Given the description of an element on the screen output the (x, y) to click on. 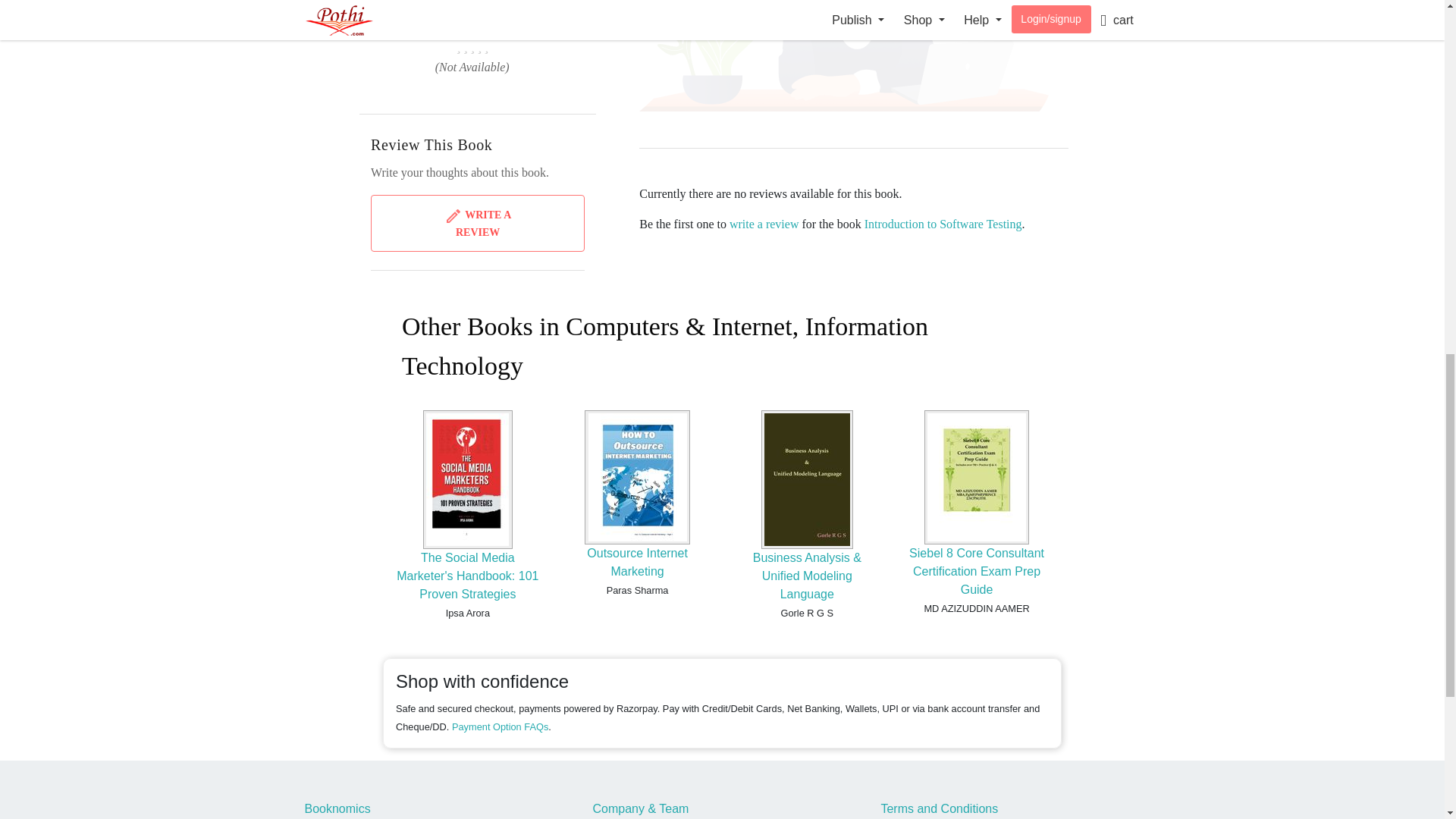
The Social Media Marketer's Handbook: 101 Proven Strategies (467, 575)
Outsource Internet Marketing (636, 562)
WRITE A REVIEW (478, 222)
Outsource Internet Marketing (636, 562)
Siebel 8 Core Consultant Certification Exam Prep Guide (975, 571)
The Social Media Marketer's Handbook: 101 Proven Strategies (467, 575)
write a review (764, 223)
Introduction to Software Testing (943, 223)
